Given the description of an element on the screen output the (x, y) to click on. 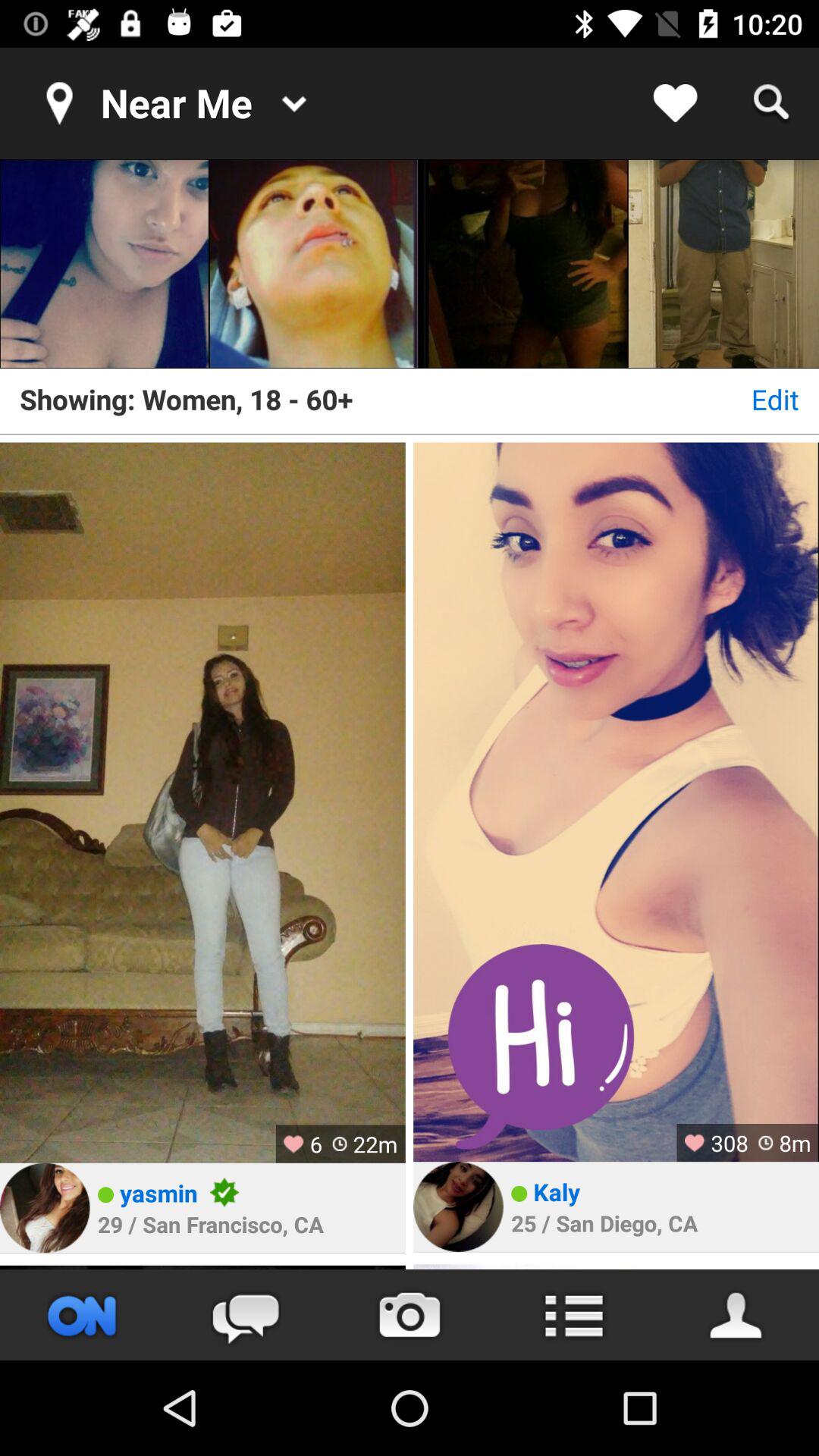
click on the second image below edit (616, 801)
select the text above 25  san diego ca (556, 1191)
click the heart icon left to search icon (675, 103)
select the green icon which is left side of the kaly (519, 1194)
click on the button which is left side of the search (675, 103)
click on the button which is next to the on (245, 1315)
select the timer icon on left to the text 8m on the web page (766, 1141)
